Given the description of an element on the screen output the (x, y) to click on. 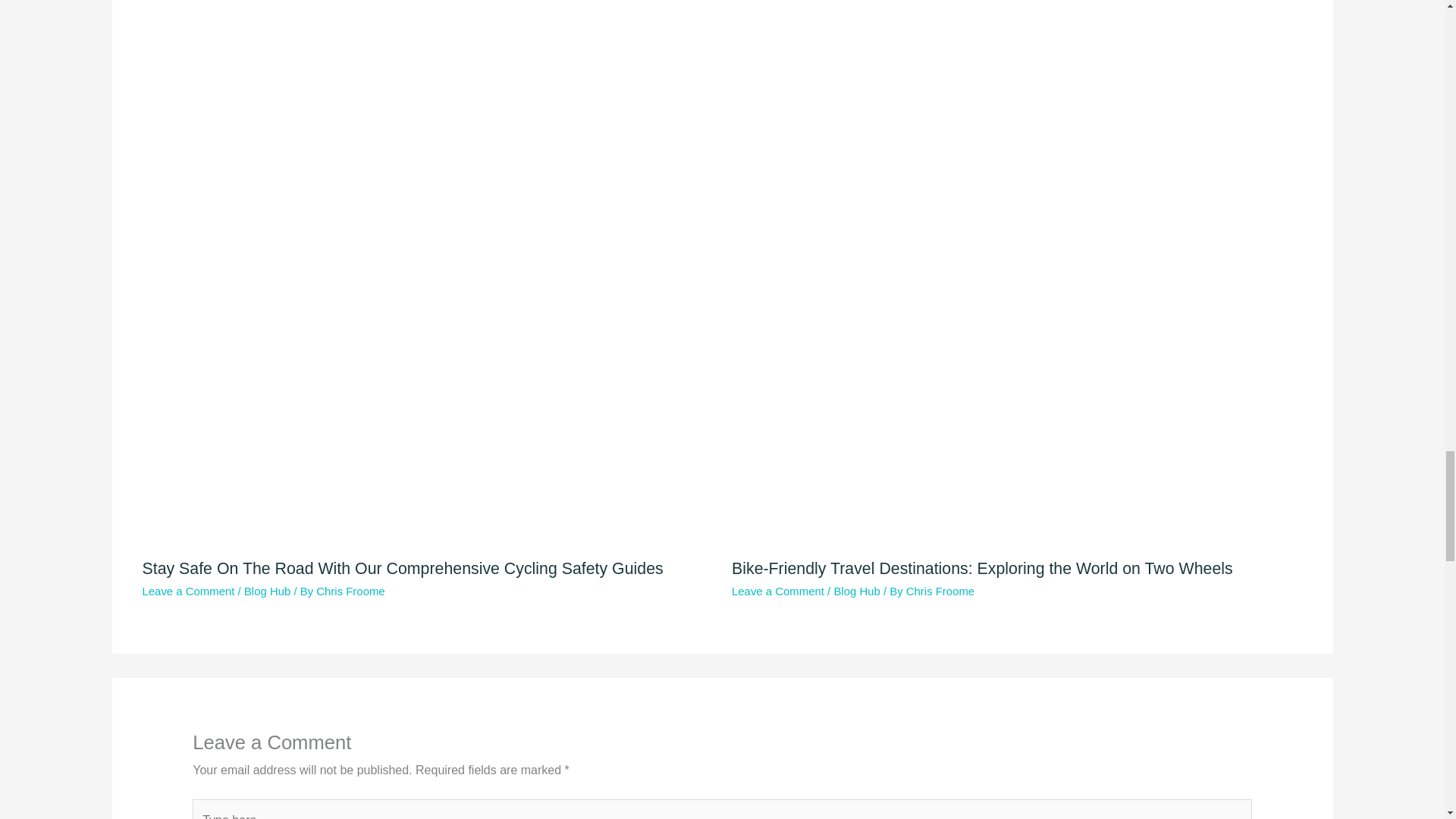
Chris Froome (939, 590)
Chris Froome (349, 590)
Leave a Comment (778, 590)
Blog Hub (855, 590)
Blog Hub (266, 590)
Leave a Comment (188, 590)
View all posts by Chris Froome (939, 590)
View all posts by Chris Froome (349, 590)
